Given the description of an element on the screen output the (x, y) to click on. 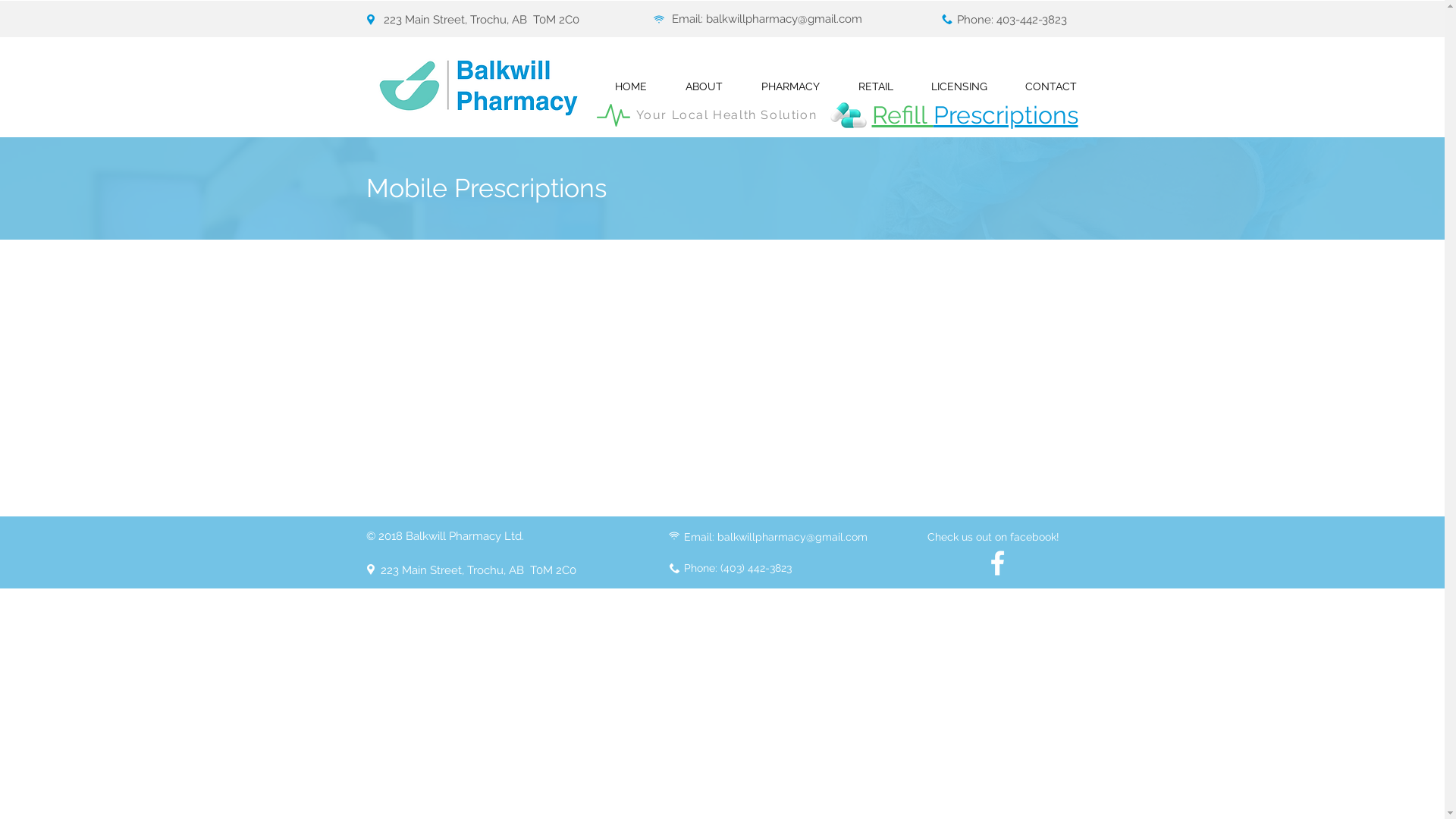
HOME Element type: text (631, 86)
Refill Prescriptions Element type: text (975, 114)
Phone: 403-442-3823 Element type: text (1011, 19)
PHARMACY Element type: text (789, 86)
223 Main Street, Trochu, AB  T0M 2C0 Element type: text (481, 19)
balkwillpharmacy@gmail.com Element type: text (792, 536)
RETAIL Element type: text (874, 86)
ABOUT Element type: text (703, 86)
Your Local Health Solution Element type: text (725, 114)
Email: balkwillpharmacy@gmail.com Element type: text (766, 18)
CONTACT Element type: text (1050, 86)
LICENSING Element type: text (958, 86)
